Given the description of an element on the screen output the (x, y) to click on. 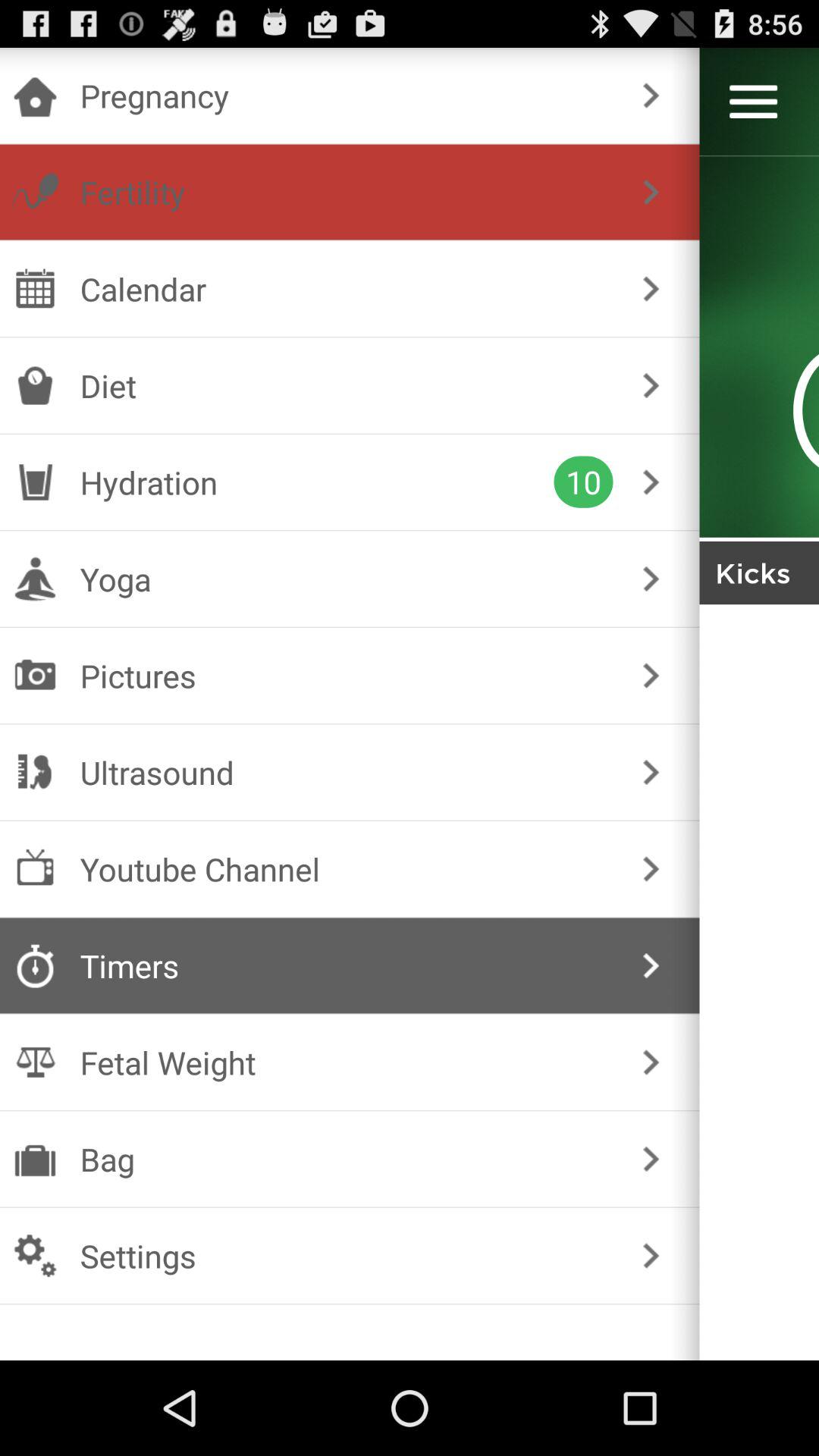
open the pictures item (346, 675)
